Given the description of an element on the screen output the (x, y) to click on. 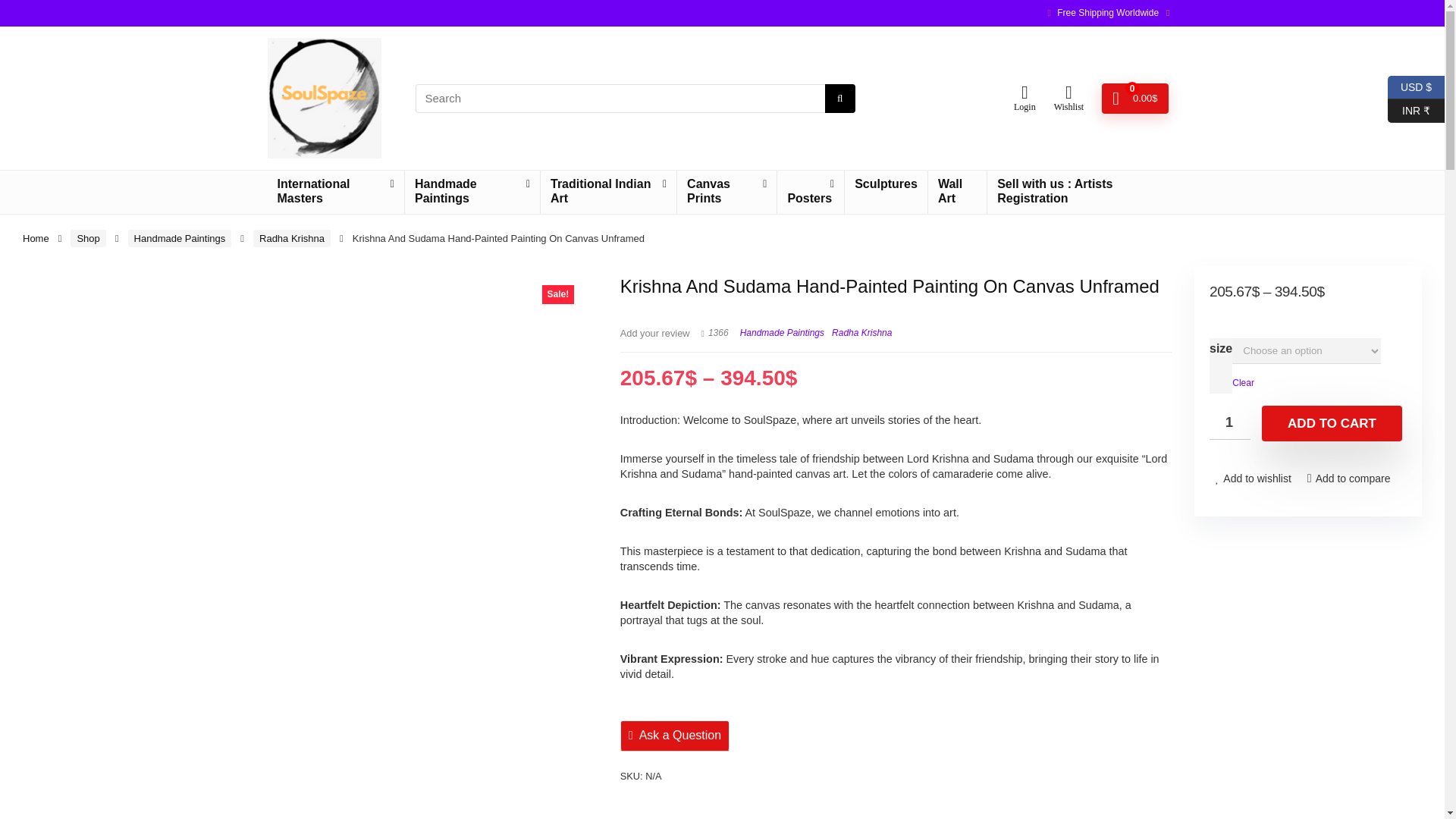
View all posts in Radha Krishna (861, 332)
View all posts in Handmade Paintings (781, 332)
Sculptures (885, 184)
International Masters (334, 191)
Sell with us : Artists Registration (1081, 191)
Wall Art (957, 191)
Add your review (655, 333)
Posters (810, 191)
Traditional Indian Art (608, 191)
Home (36, 238)
